Given the description of an element on the screen output the (x, y) to click on. 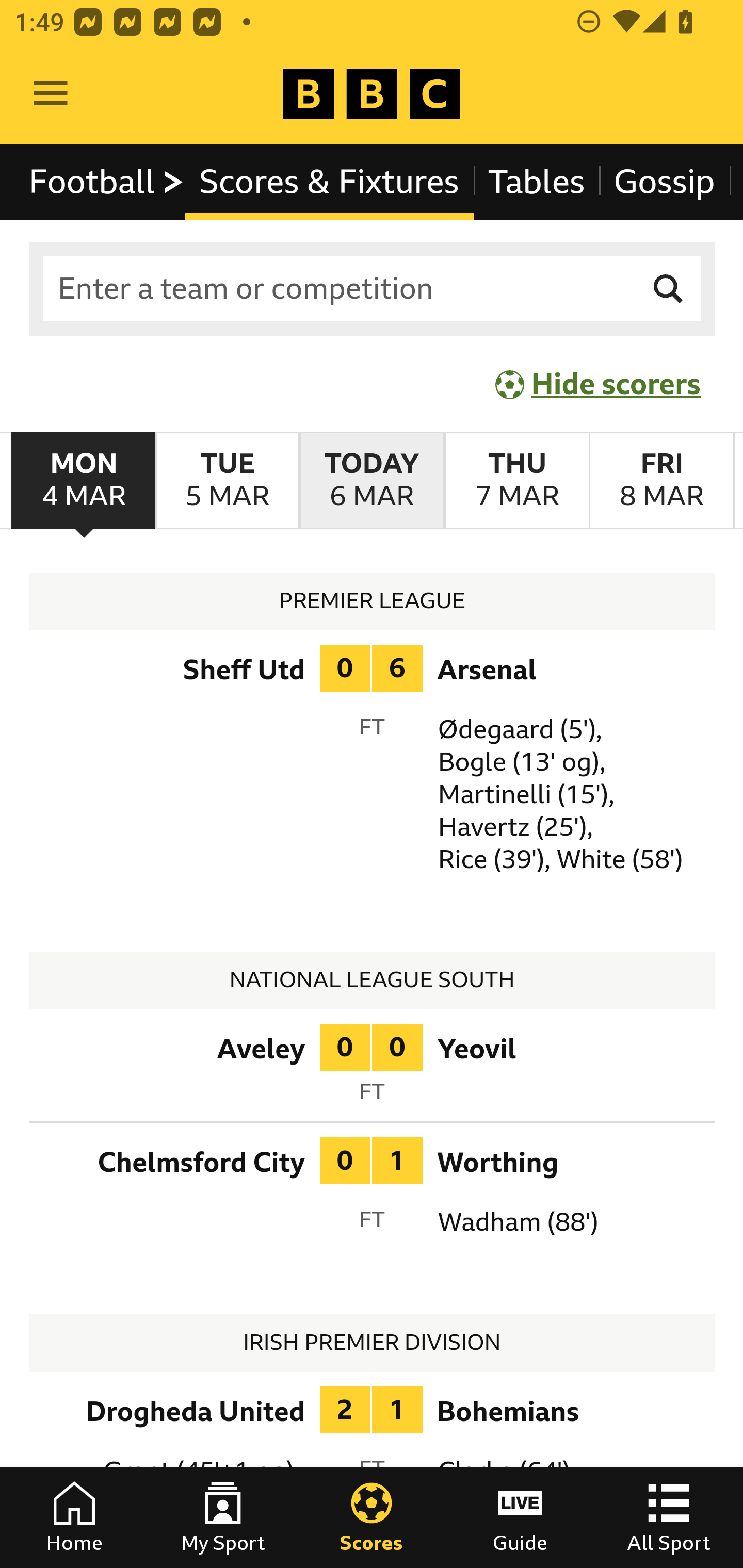
Open Menu (50, 93)
Football  (106, 181)
Scores & Fixtures (329, 181)
Tables (536, 181)
Gossip (664, 181)
Search (669, 289)
Hide scorers (598, 383)
TuesdayMarch 5th Tuesday March 5th (227, 480)
TodayMarch 6th Today March 6th (371, 480)
ThursdayMarch 7th Thursday March 7th (516, 480)
FridayMarch 8th Friday March 8th (661, 480)
Home (74, 1517)
My Sport (222, 1517)
Guide (519, 1517)
All Sport (668, 1517)
